Given the description of an element on the screen output the (x, y) to click on. 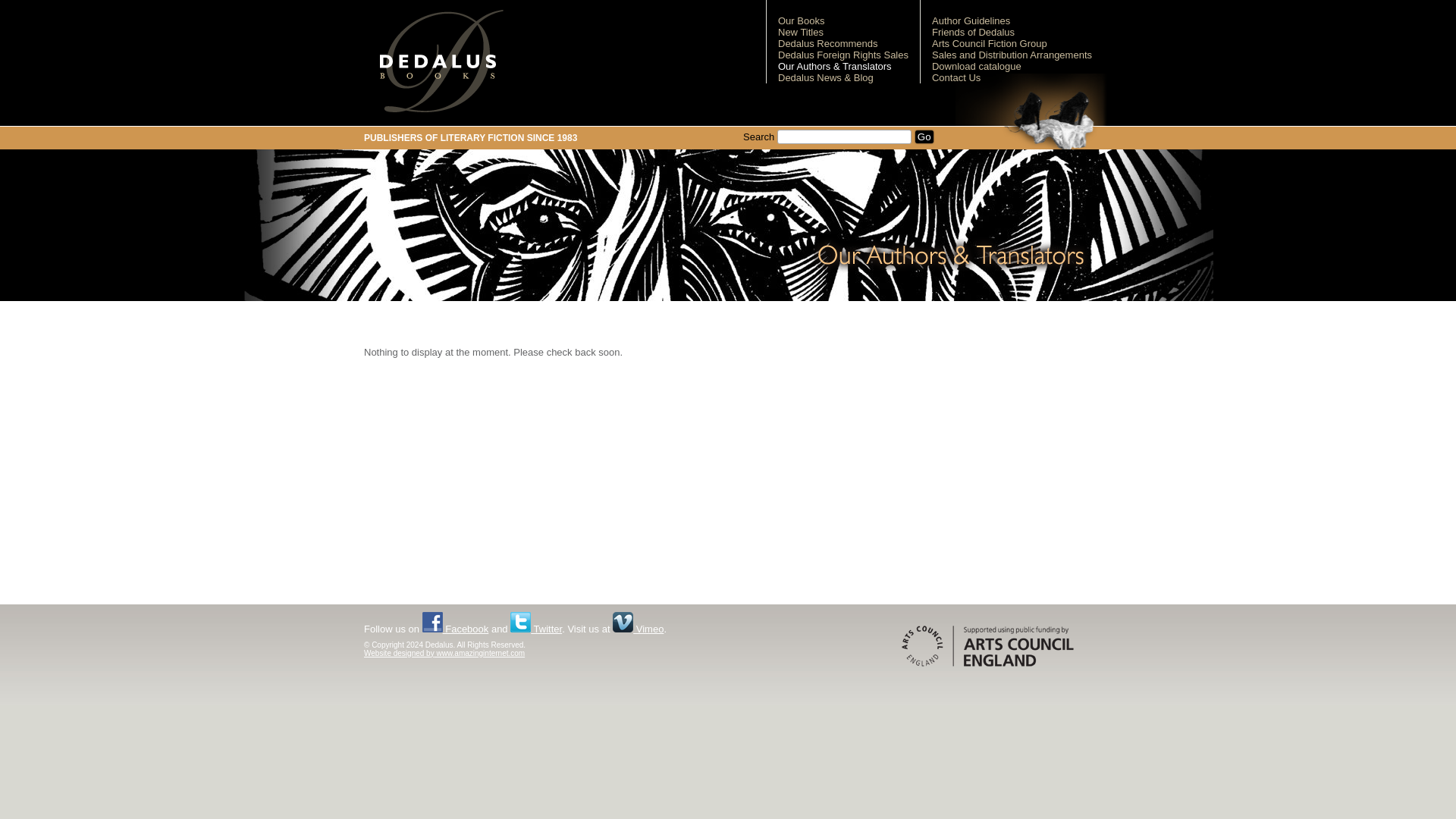
Dedalus Recommends (827, 43)
Sales and Distribution Arrangements (1011, 54)
Visit us on Facebook (455, 628)
Go (924, 136)
Website designed by www.amazinginternet.com (444, 653)
Arts Council Fiction Group (988, 43)
Dedalus Books - part of Arts Council England (986, 645)
Author Guidelines (970, 20)
Contact Us (955, 77)
Go (924, 136)
Facebook (455, 628)
Friends of Dedalus (972, 31)
Our Books (800, 20)
Dedalus Foreign Rights Sales (842, 54)
Visit us on Twitter (536, 628)
